Given the description of an element on the screen output the (x, y) to click on. 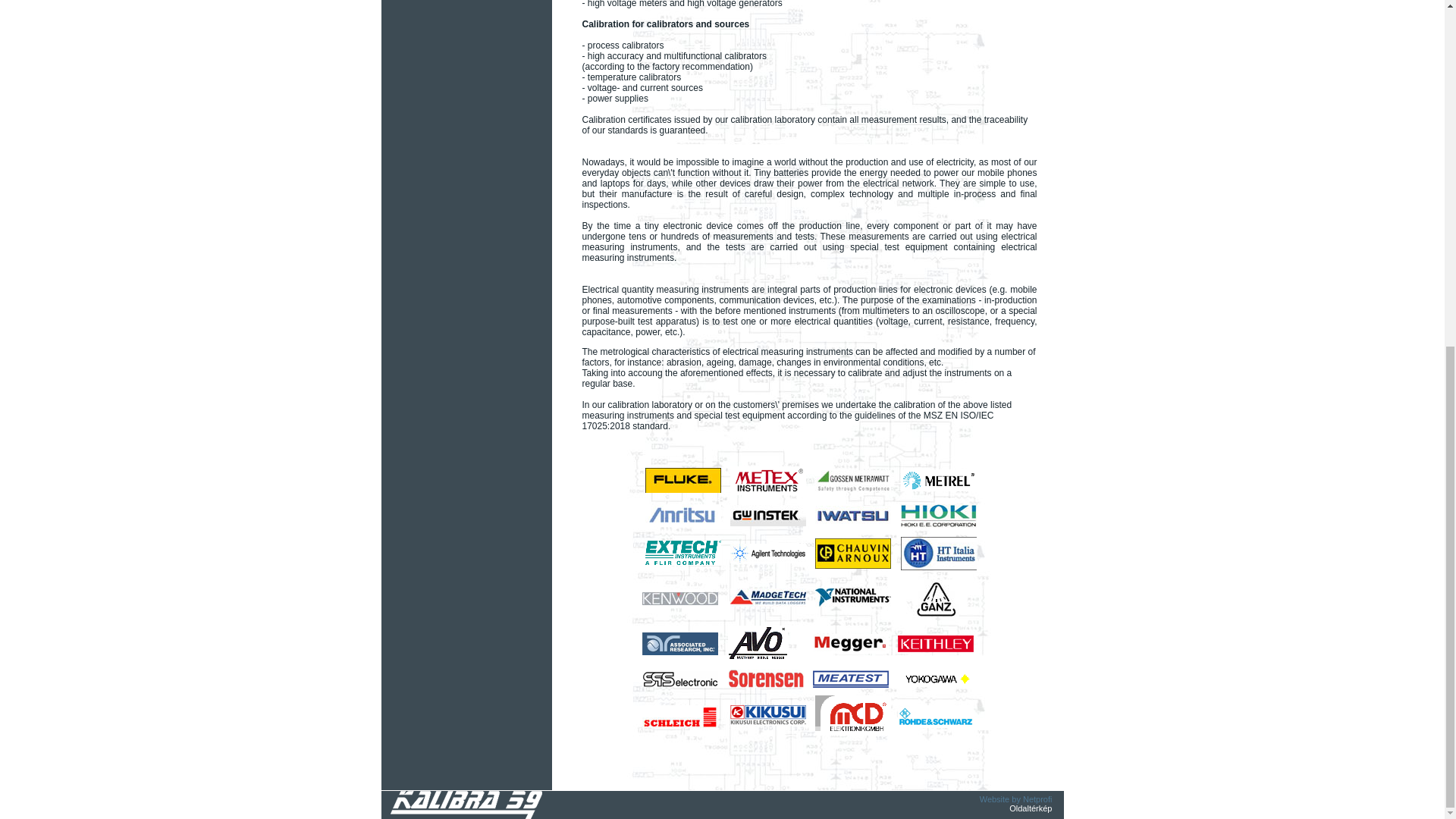
Website by Netprofi (1015, 798)
